Given the description of an element on the screen output the (x, y) to click on. 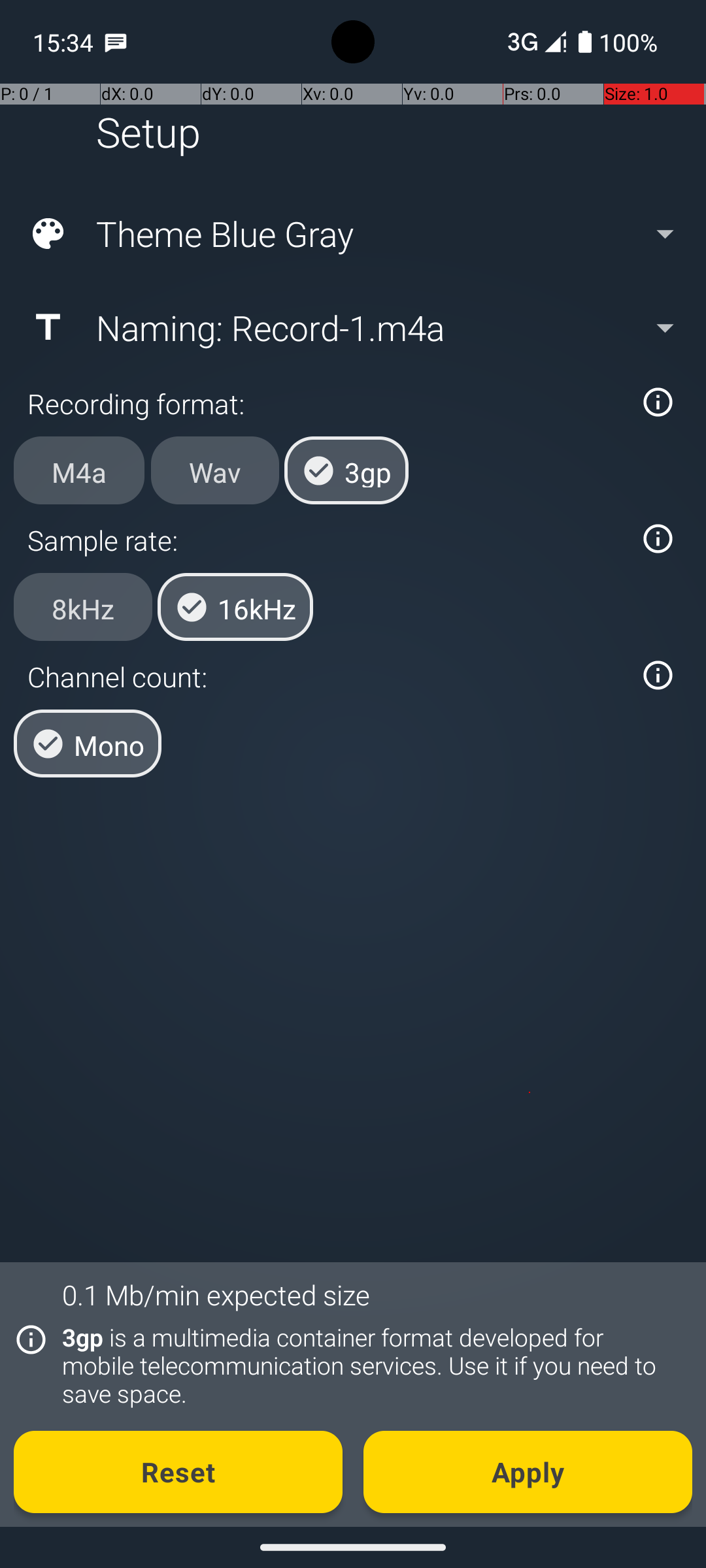
0.1 Mb/min expected size Element type: android.widget.TextView (215, 1294)
3gp is a multimedia container format developed for mobile telecommunication services. Use it if you need to save space. Element type: android.widget.TextView (370, 1364)
